Given the description of an element on the screen output the (x, y) to click on. 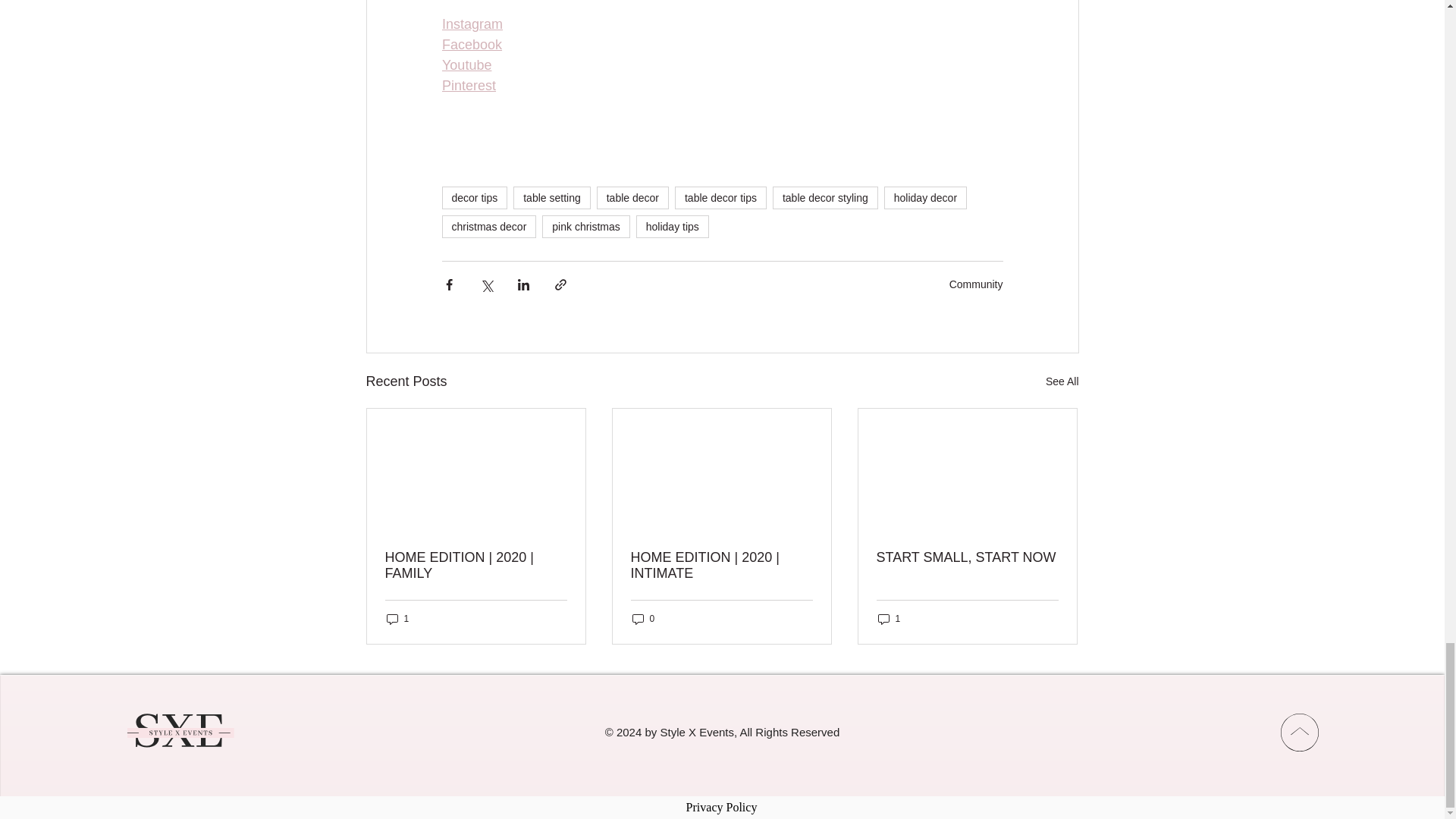
holiday tips (672, 226)
table decor (632, 197)
Instagram (471, 23)
Pinterest (468, 85)
pink christmas (584, 226)
Youtube (465, 64)
holiday decor (924, 197)
Community (976, 284)
christmas decor (488, 226)
See All (1061, 382)
